Given the description of an element on the screen output the (x, y) to click on. 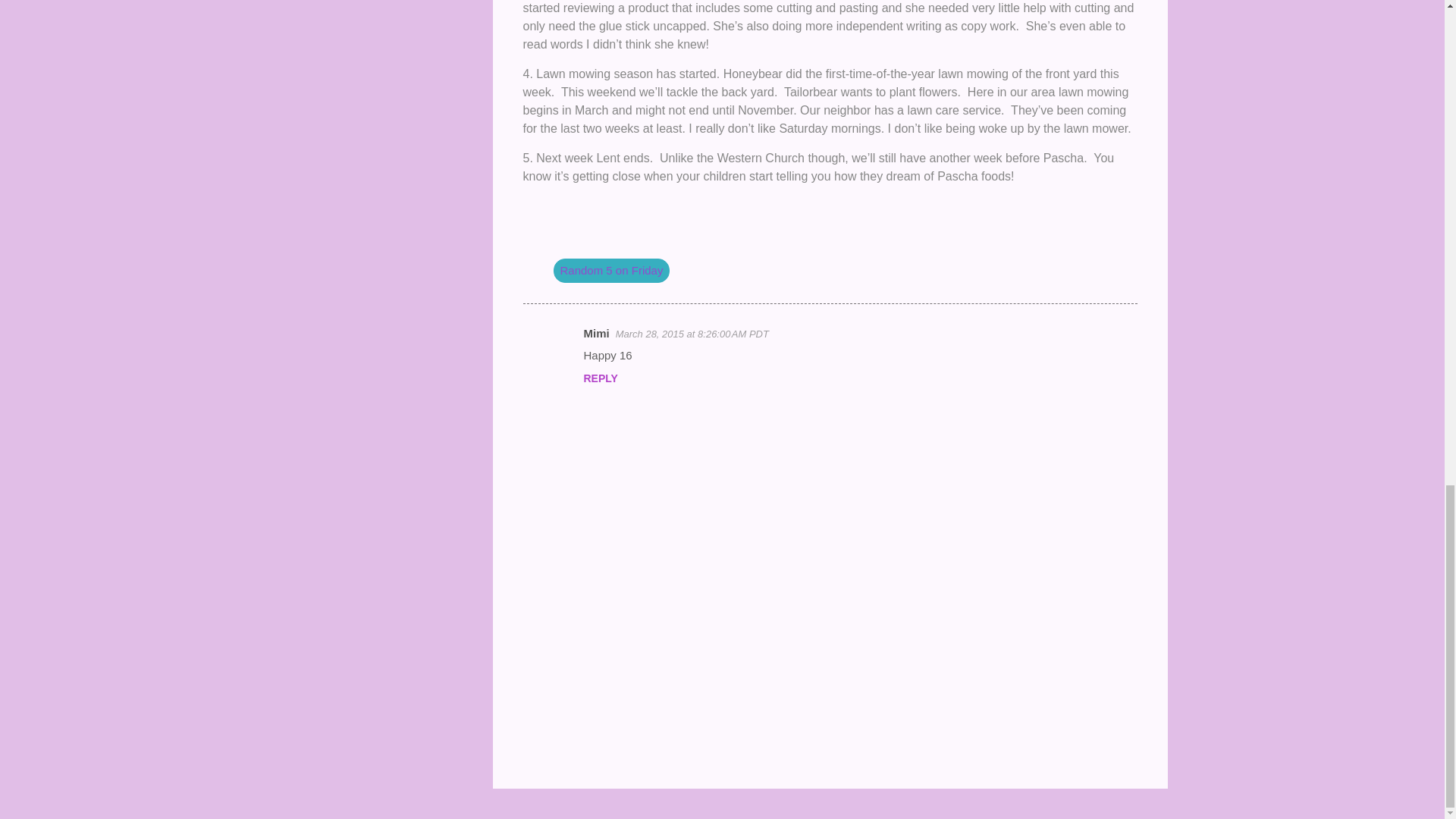
Mimi (596, 332)
REPLY (600, 378)
Random 5 on Friday (611, 270)
